Given the description of an element on the screen output the (x, y) to click on. 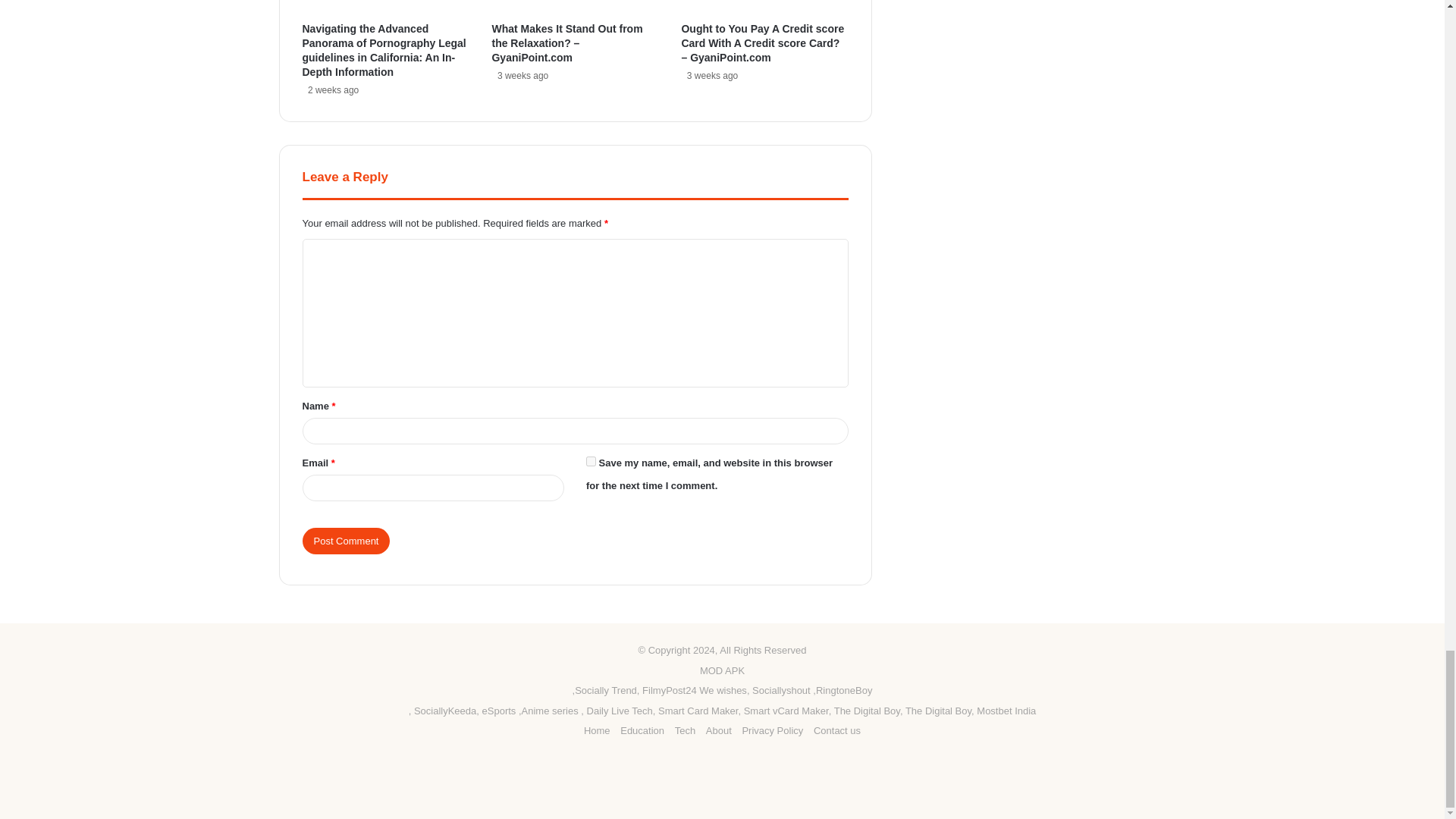
Post Comment (345, 540)
yes (590, 461)
